Given the description of an element on the screen output the (x, y) to click on. 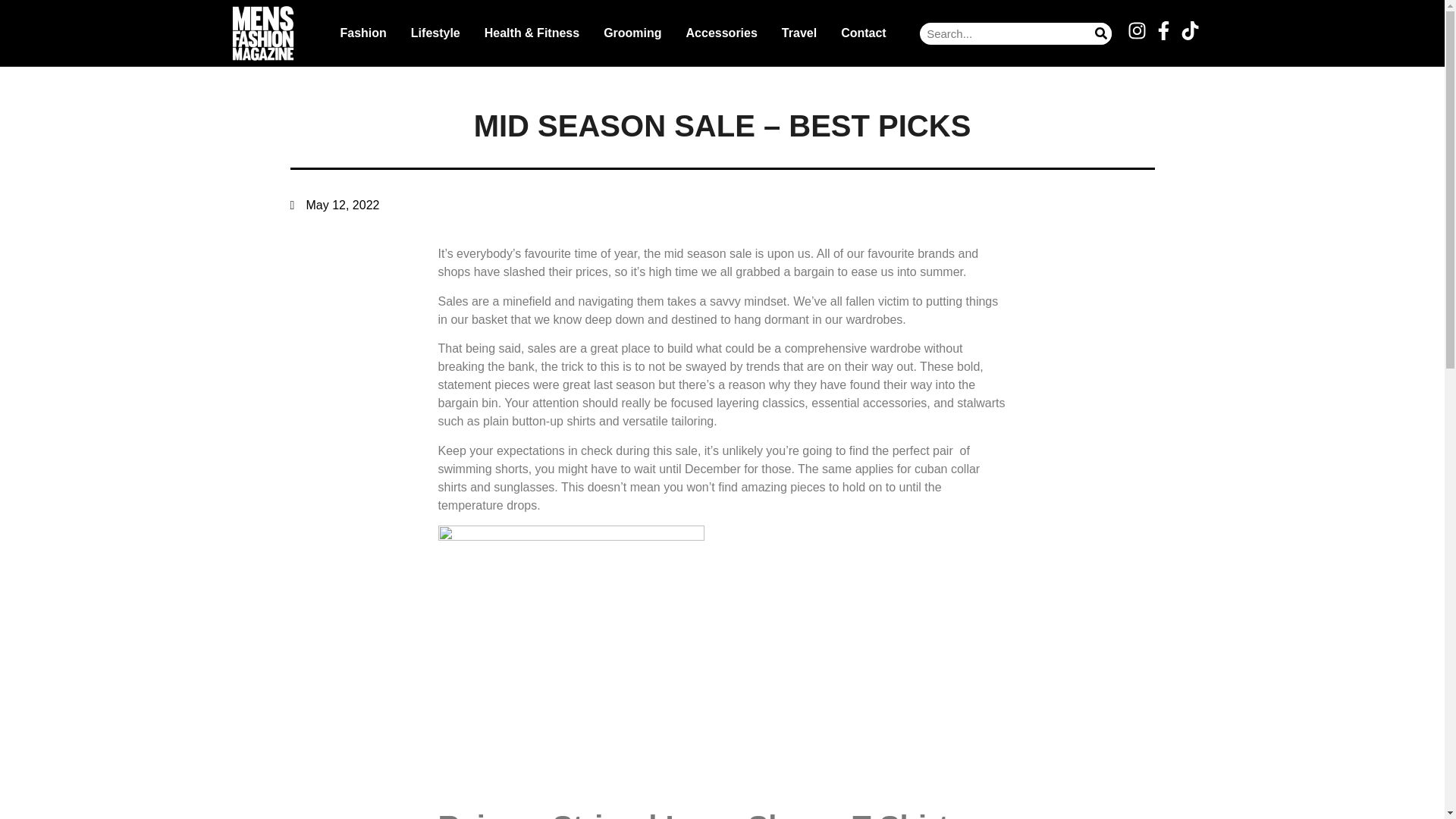
Lifestyle (434, 33)
Grooming (631, 33)
Contact (863, 33)
Travel (799, 33)
Fashion (362, 33)
May 12, 2022 (333, 205)
Accessories (722, 33)
